Given the description of an element on the screen output the (x, y) to click on. 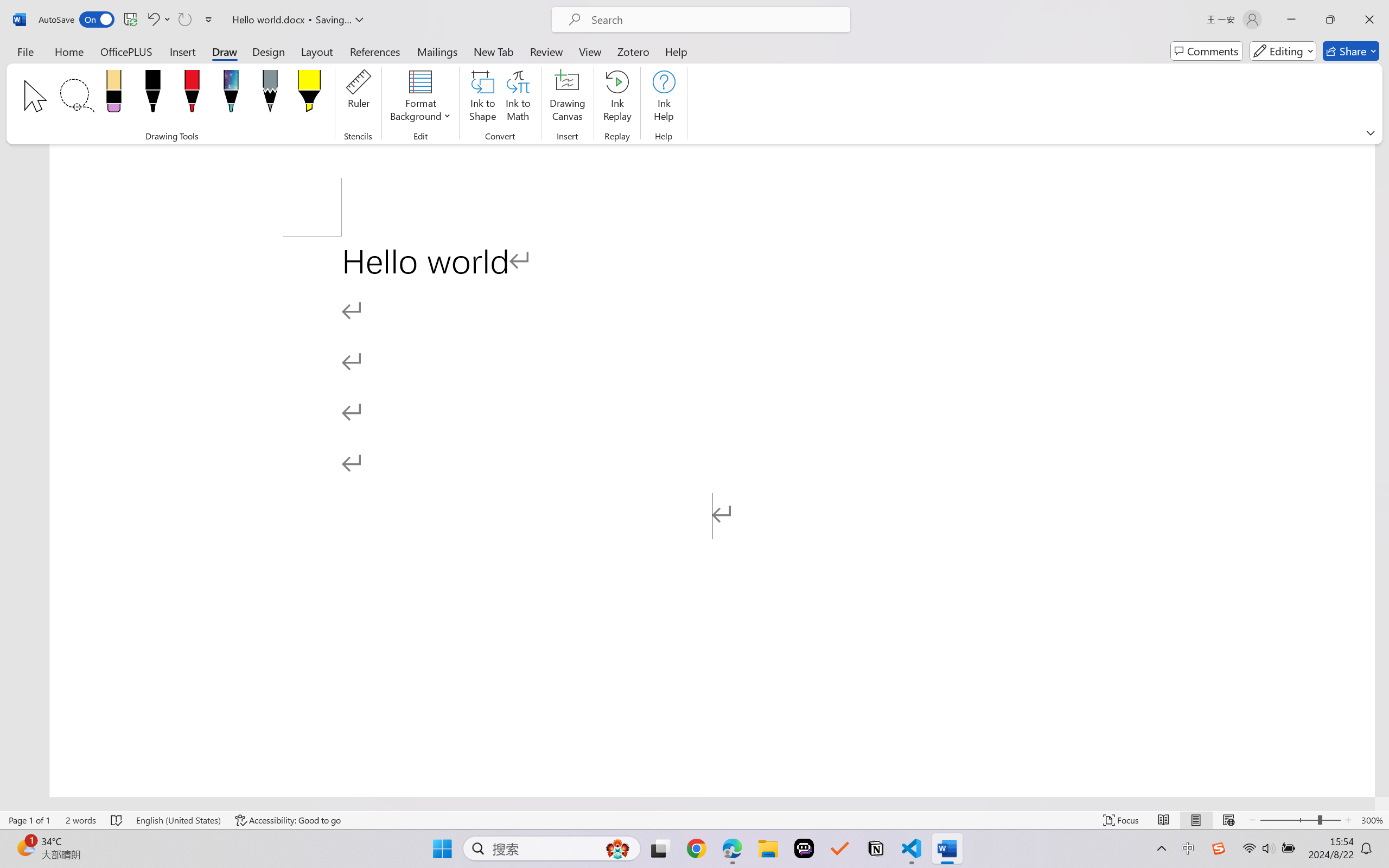
Microsoft search (715, 19)
Undo Click and Type Formatting (152, 19)
Close (1369, 19)
Zoom 300% (1372, 819)
Zotero (632, 51)
Pencil: Gray, 1 mm (270, 94)
Zoom Out (1288, 819)
